Given the description of an element on the screen output the (x, y) to click on. 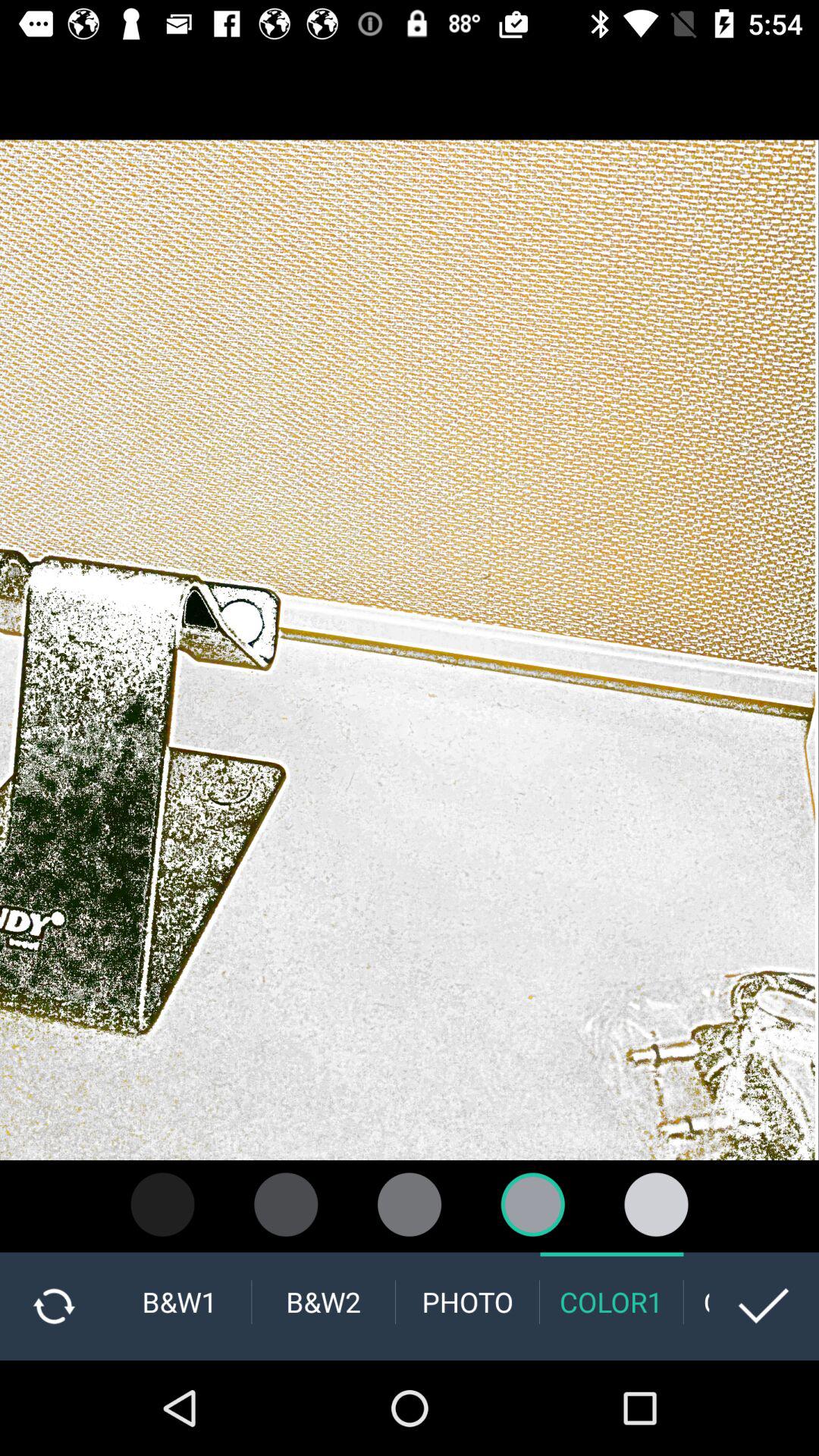
click on icon which is at the bottom right corner (764, 1306)
go to photo (466, 1302)
select the bw1 option (179, 1302)
click on the color1 option (611, 1302)
